Given the description of an element on the screen output the (x, y) to click on. 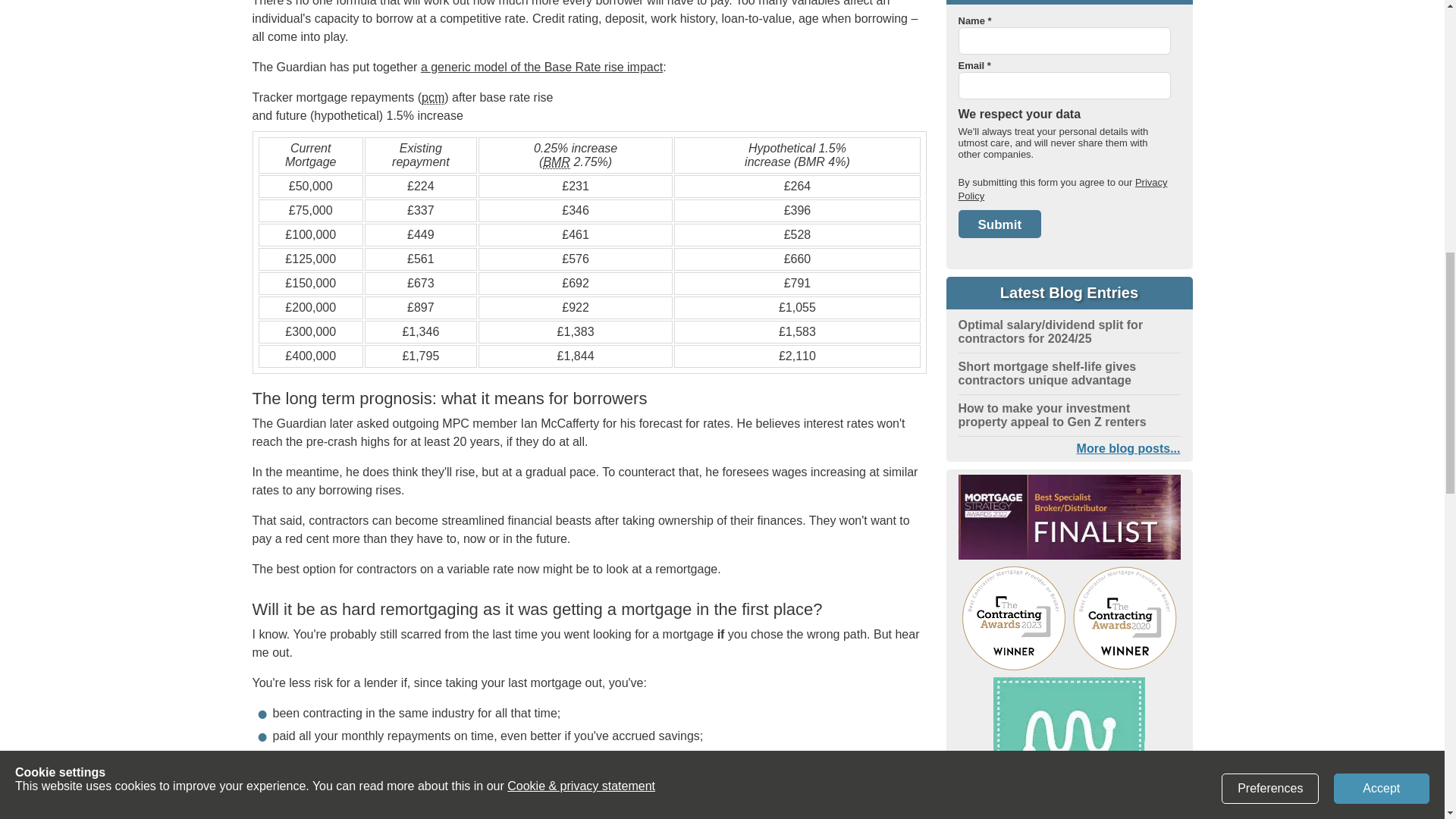
Base Mortgage Rate (556, 161)
Privacy Policy (1062, 188)
Submit (1000, 223)
Short mortgage shelf-life gives contractors unique advantage (1047, 373)
Submit (1000, 223)
a generic model of the Base Rate rise impact (541, 66)
per calendar month (433, 97)
